Given the description of an element on the screen output the (x, y) to click on. 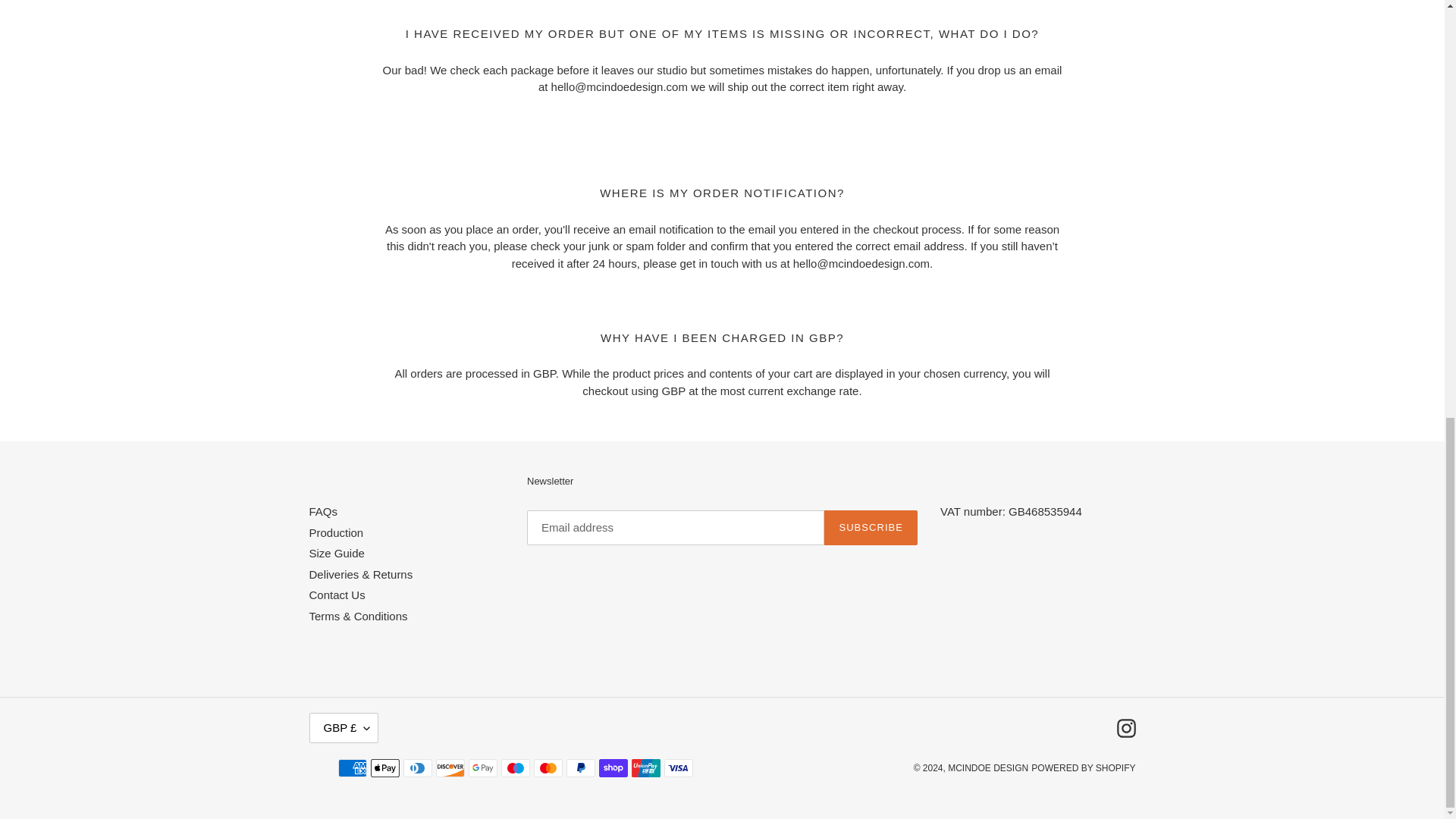
SUBSCRIBE (870, 527)
FAQs (322, 511)
Production (336, 532)
Size Guide (336, 553)
Contact Us (336, 594)
